Given the description of an element on the screen output the (x, y) to click on. 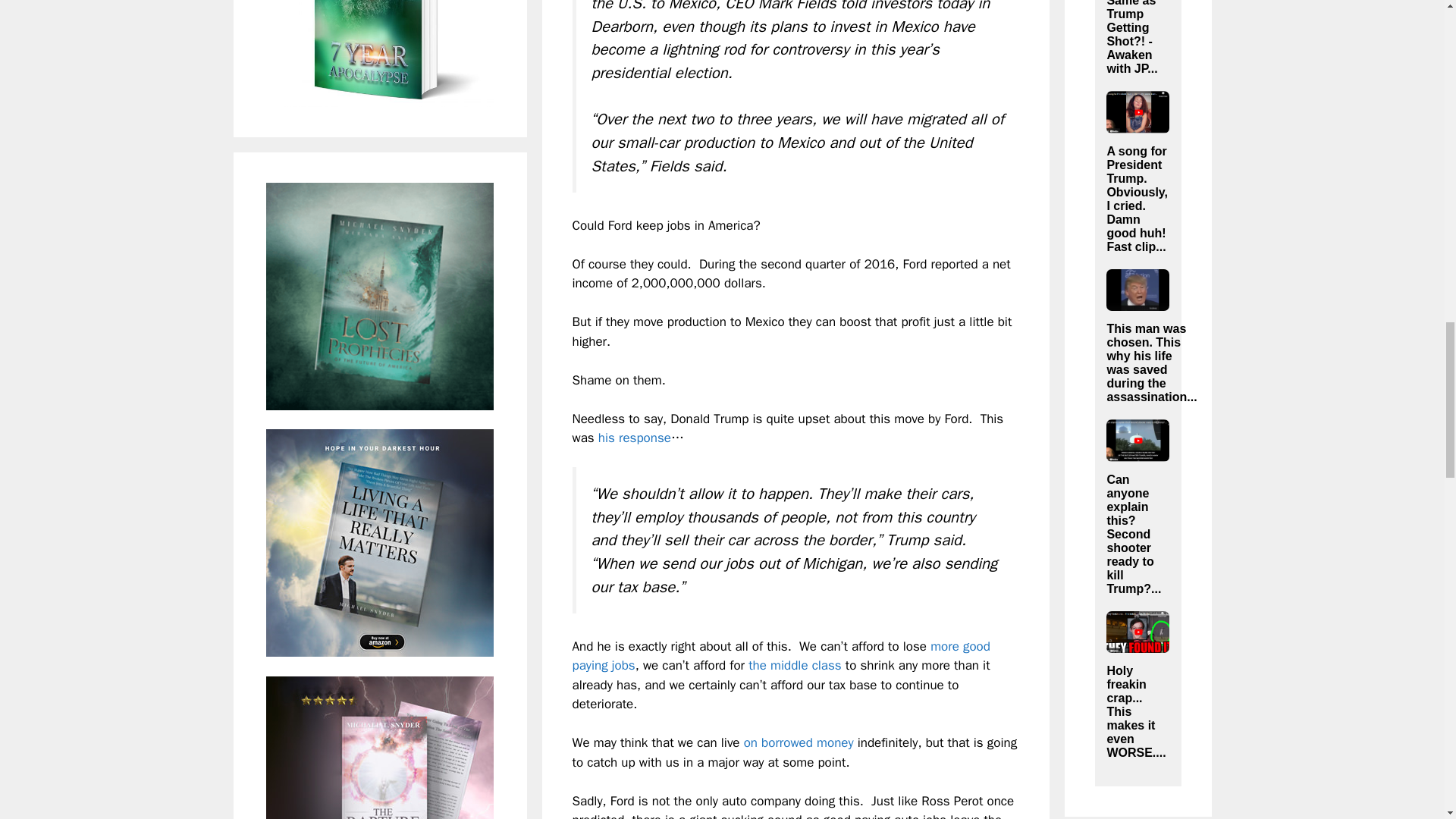
the middle class (794, 665)
more good paying jobs (781, 656)
on borrowed money (798, 742)
on borrowed money (798, 742)
his response (634, 437)
the middle class (794, 665)
his response (634, 437)
more good paying jobs (781, 656)
